Given the description of an element on the screen output the (x, y) to click on. 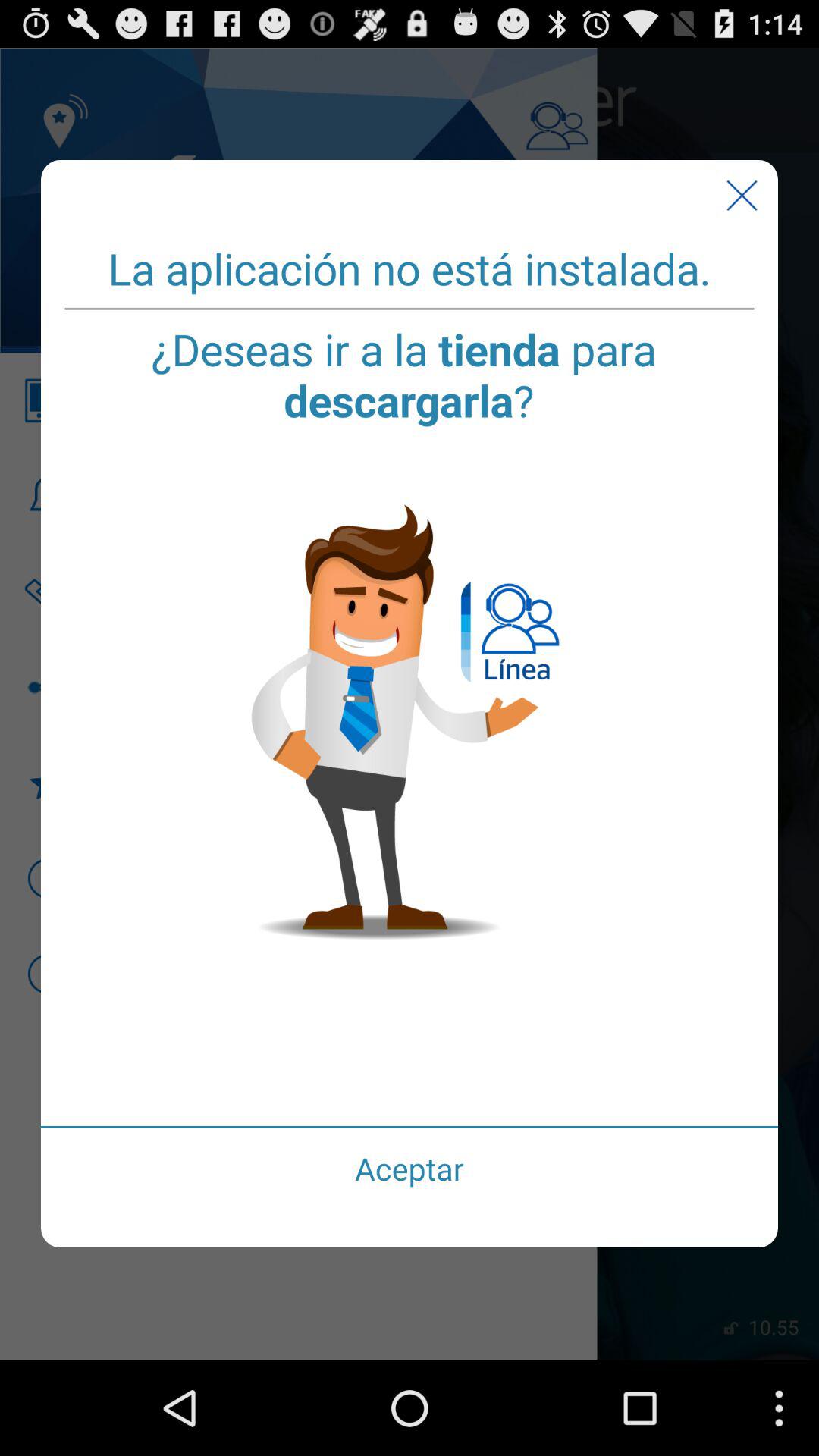
tap icon at the top right corner (742, 195)
